Given the description of an element on the screen output the (x, y) to click on. 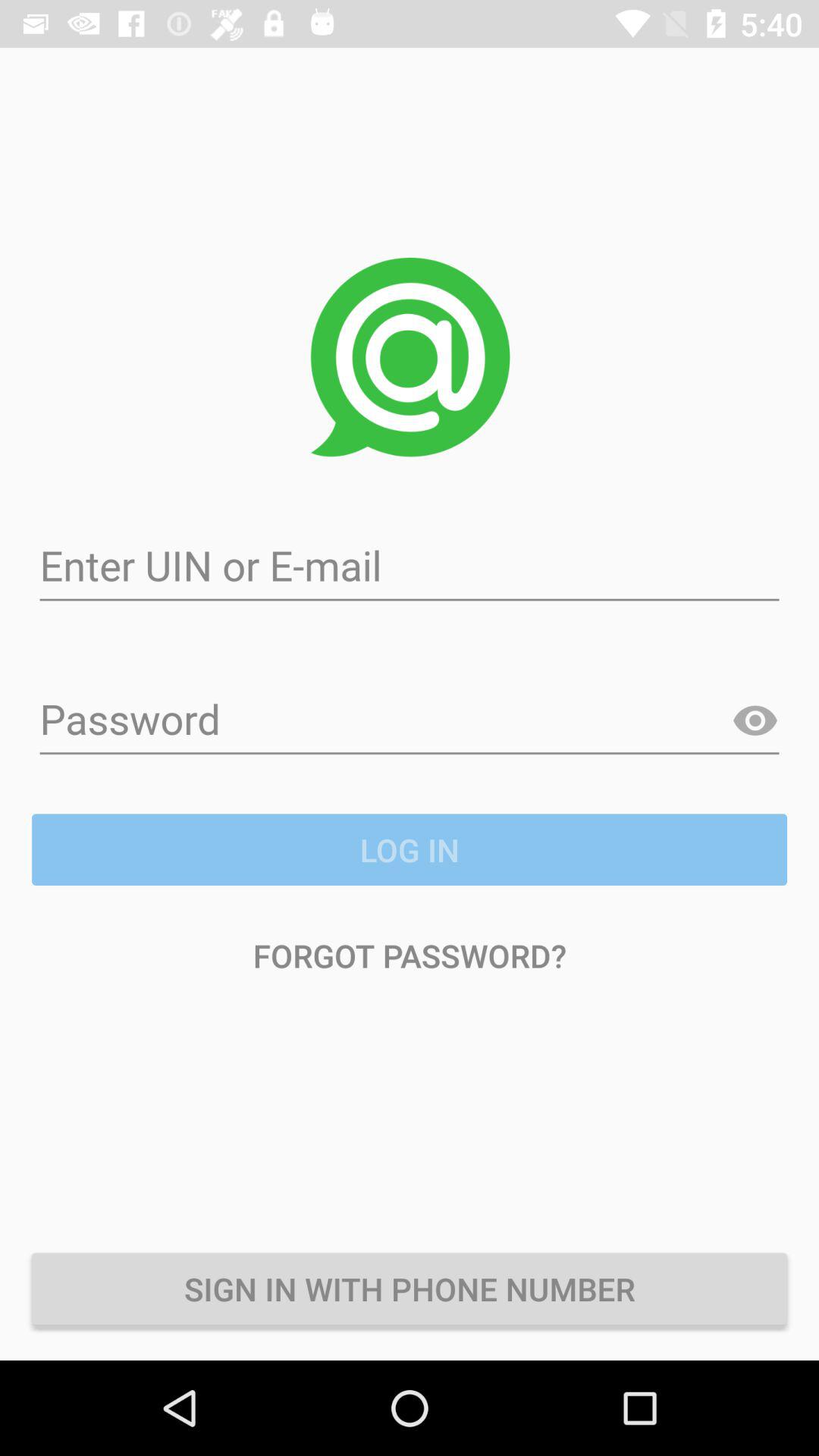
open the sign in with icon (409, 1288)
